Given the description of an element on the screen output the (x, y) to click on. 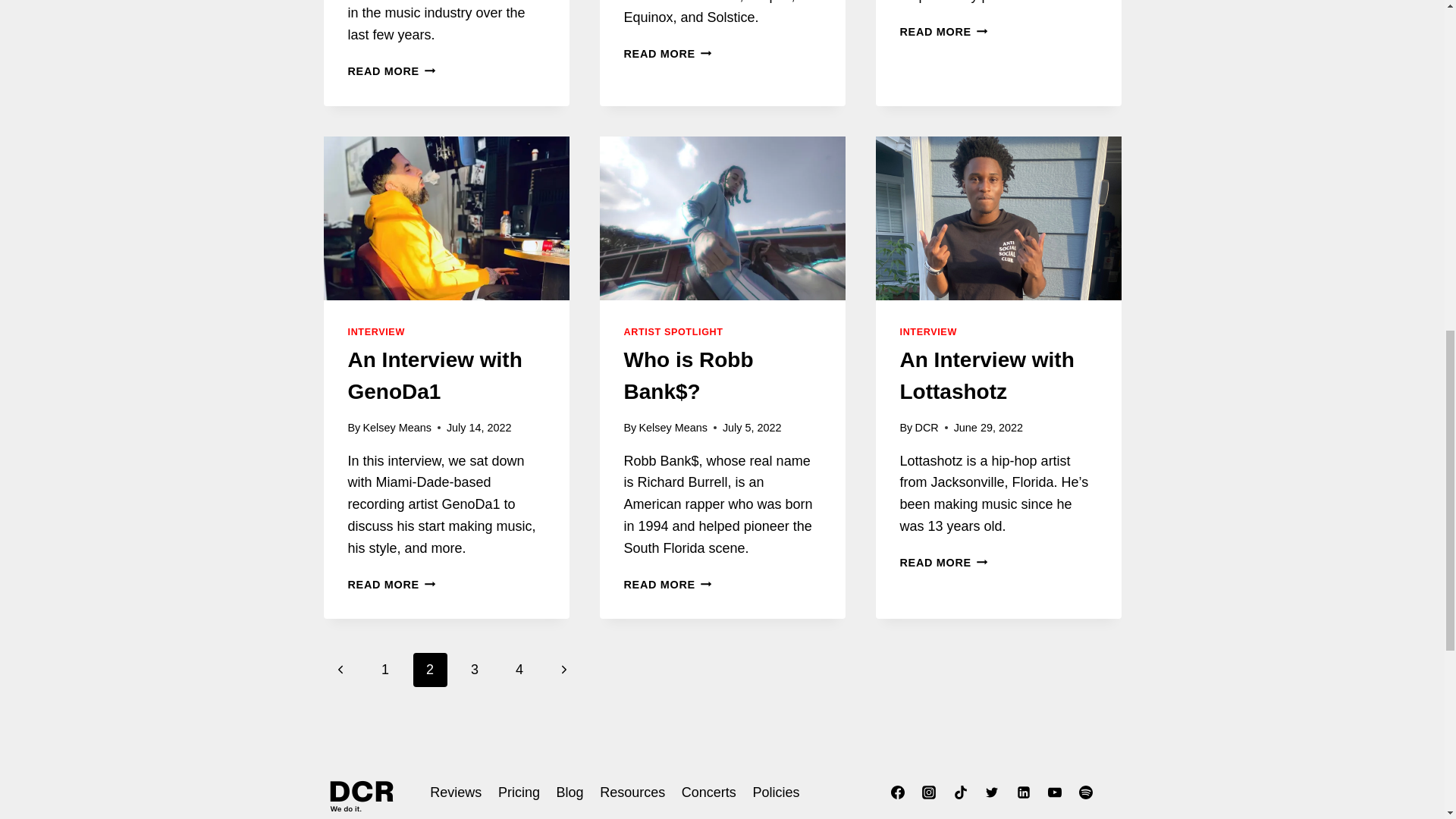
Kelsey Means (943, 31)
INTERVIEW (396, 427)
An Interview with GenoDa1 (375, 331)
